Given the description of an element on the screen output the (x, y) to click on. 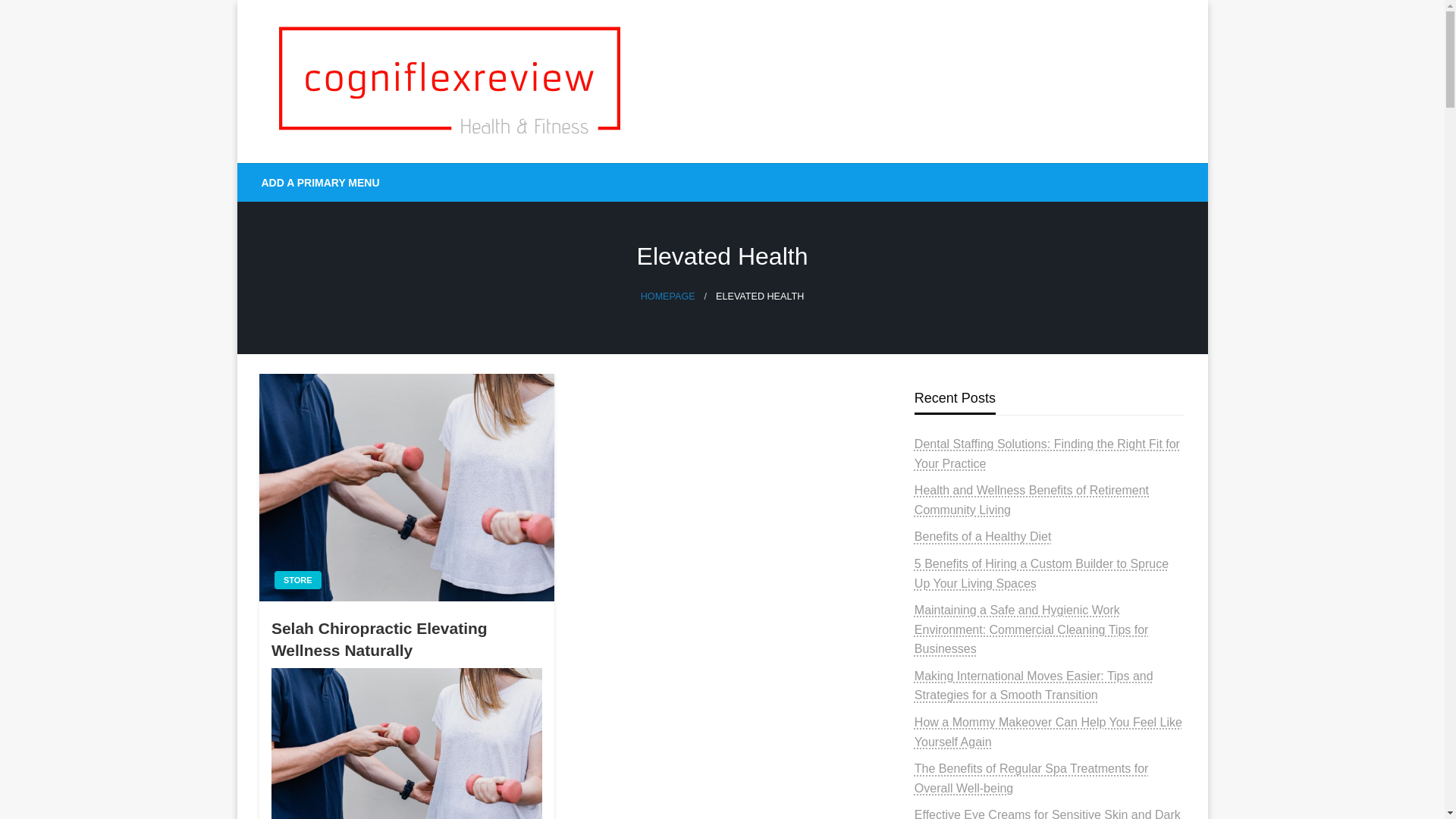
ADD A PRIMARY MENU (320, 182)
HOMEPAGE (667, 296)
Homepage (667, 296)
Selah Chiropractic Elevating Wellness Naturally (405, 639)
Selah Chiropractic Elevating Wellness Naturally (405, 743)
